Given the description of an element on the screen output the (x, y) to click on. 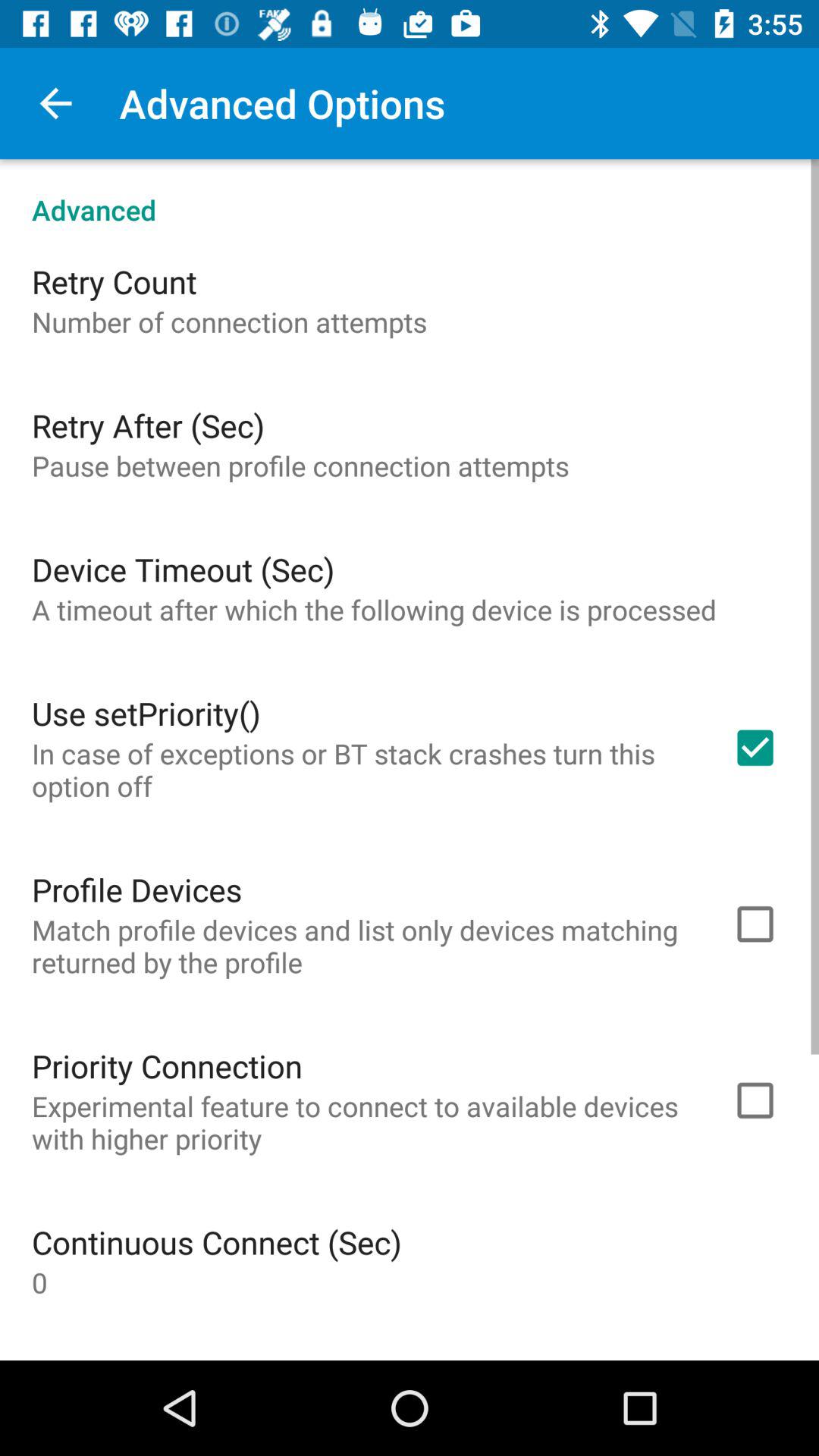
choose icon above use setpriority() (373, 609)
